Given the description of an element on the screen output the (x, y) to click on. 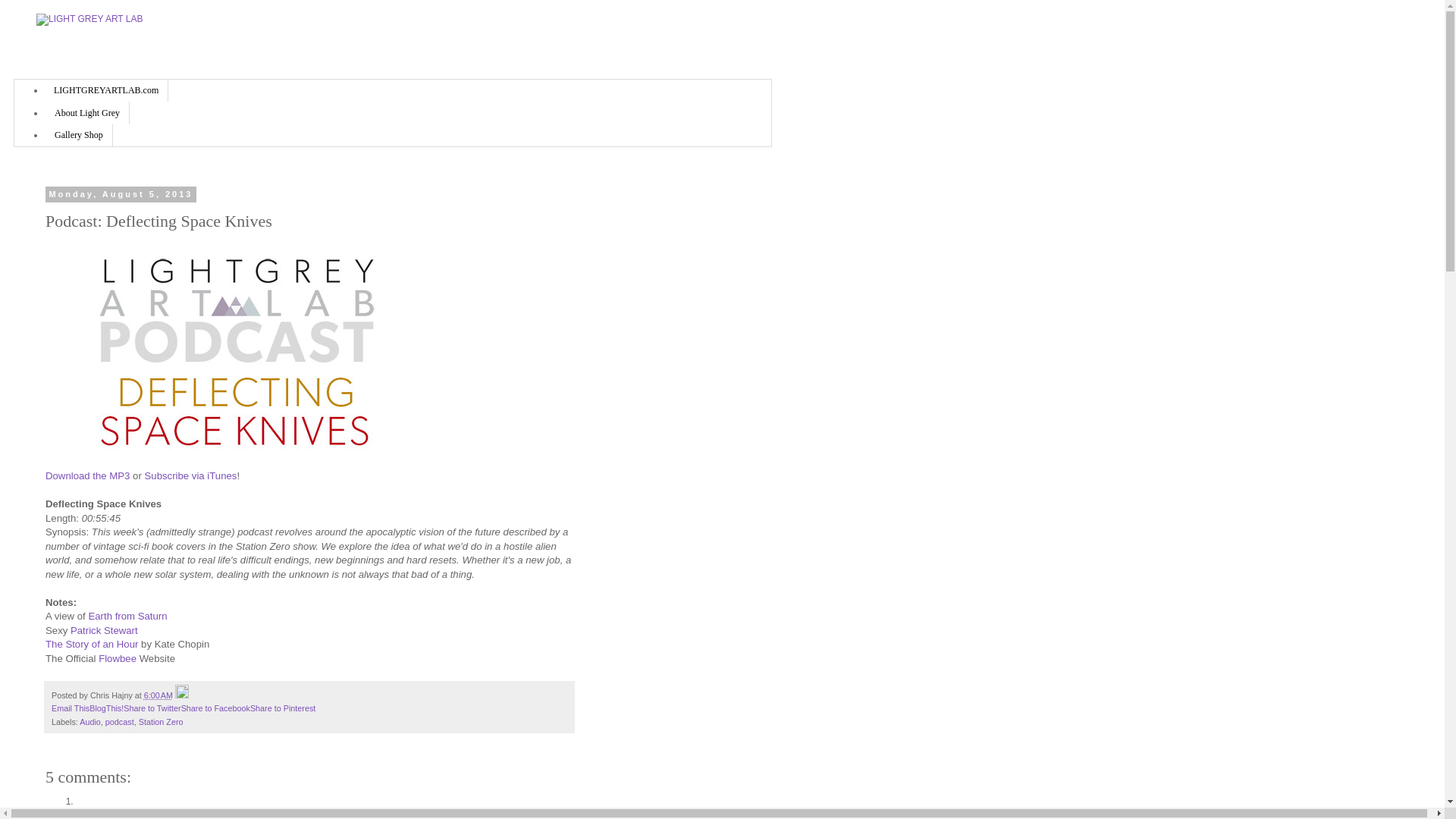
LIGHTGREYARTLAB.com (106, 90)
Email This (69, 707)
Share to Twitter (151, 707)
Share to Pinterest (282, 707)
Share to Twitter (151, 707)
Gallery Shop (79, 135)
podcast (118, 721)
BlogThis! (105, 707)
Download the MP3 (87, 475)
Patrick Stewart (103, 630)
Flowbee (117, 658)
Earth from Saturn (127, 615)
BlogThis! (105, 707)
Subscribe via iTunes (189, 475)
